Given the description of an element on the screen output the (x, y) to click on. 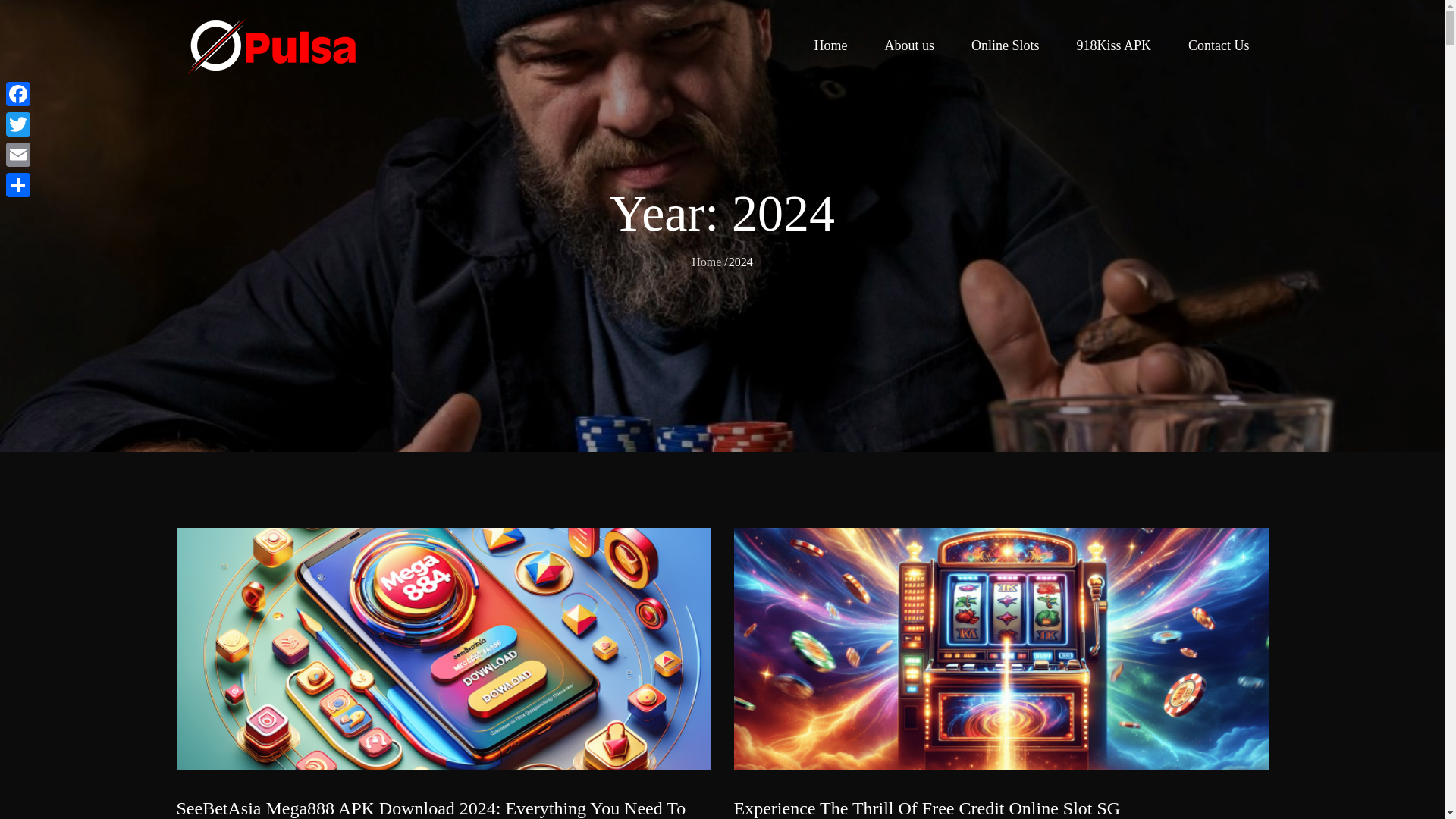
About us (909, 45)
SG Online Slot Casino (499, 61)
Online Slots (1004, 45)
Home (830, 45)
Home (705, 260)
Contact Us (1218, 45)
Experience The Thrill Of Free Credit Online Slot SG (927, 808)
918Kiss APK (1113, 45)
